Given the description of an element on the screen output the (x, y) to click on. 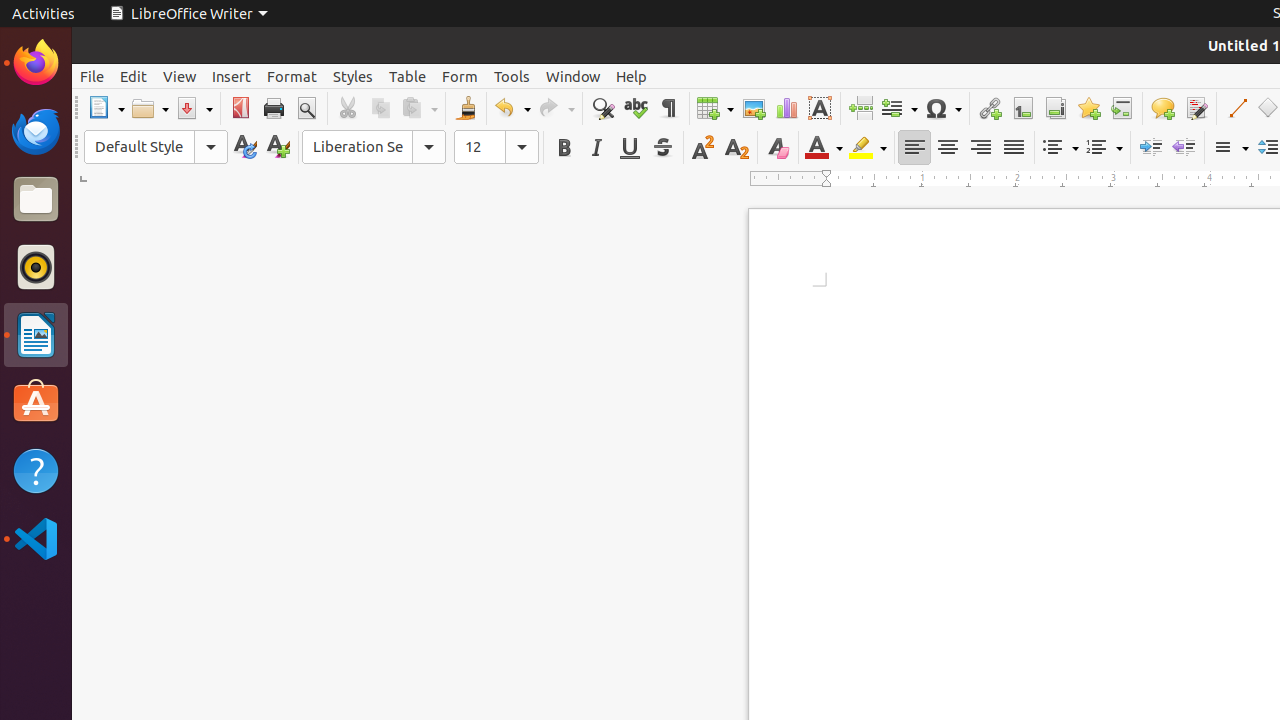
Print Preview Element type: toggle-button (306, 108)
Center Element type: toggle-button (947, 147)
Paragraph Style Element type: combo-box (156, 147)
Hyperlink Element type: toggle-button (989, 108)
Track Changes Functions Element type: toggle-button (1195, 108)
